Given the description of an element on the screen output the (x, y) to click on. 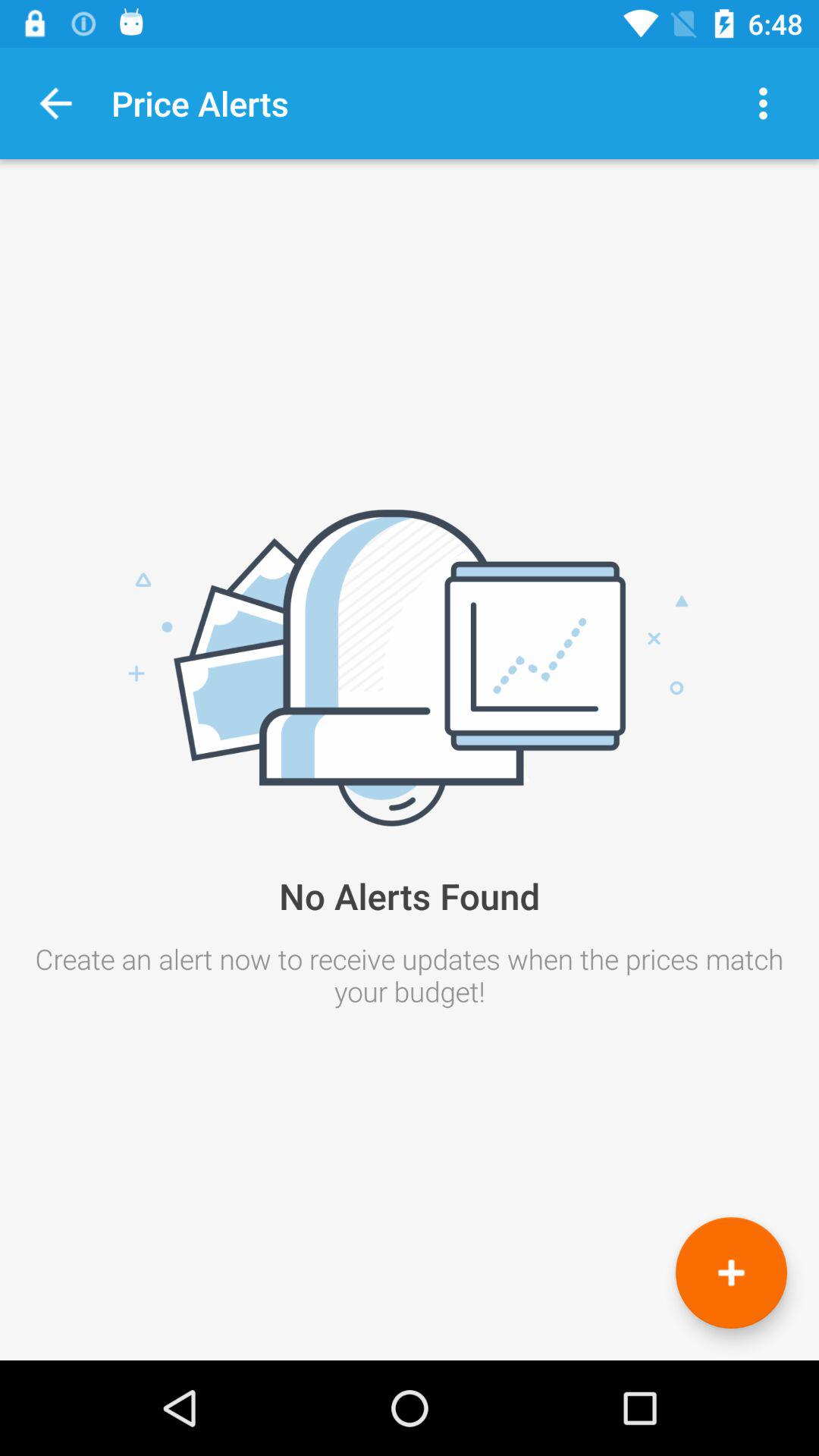
voltar a tela anterior (55, 103)
